Given the description of an element on the screen output the (x, y) to click on. 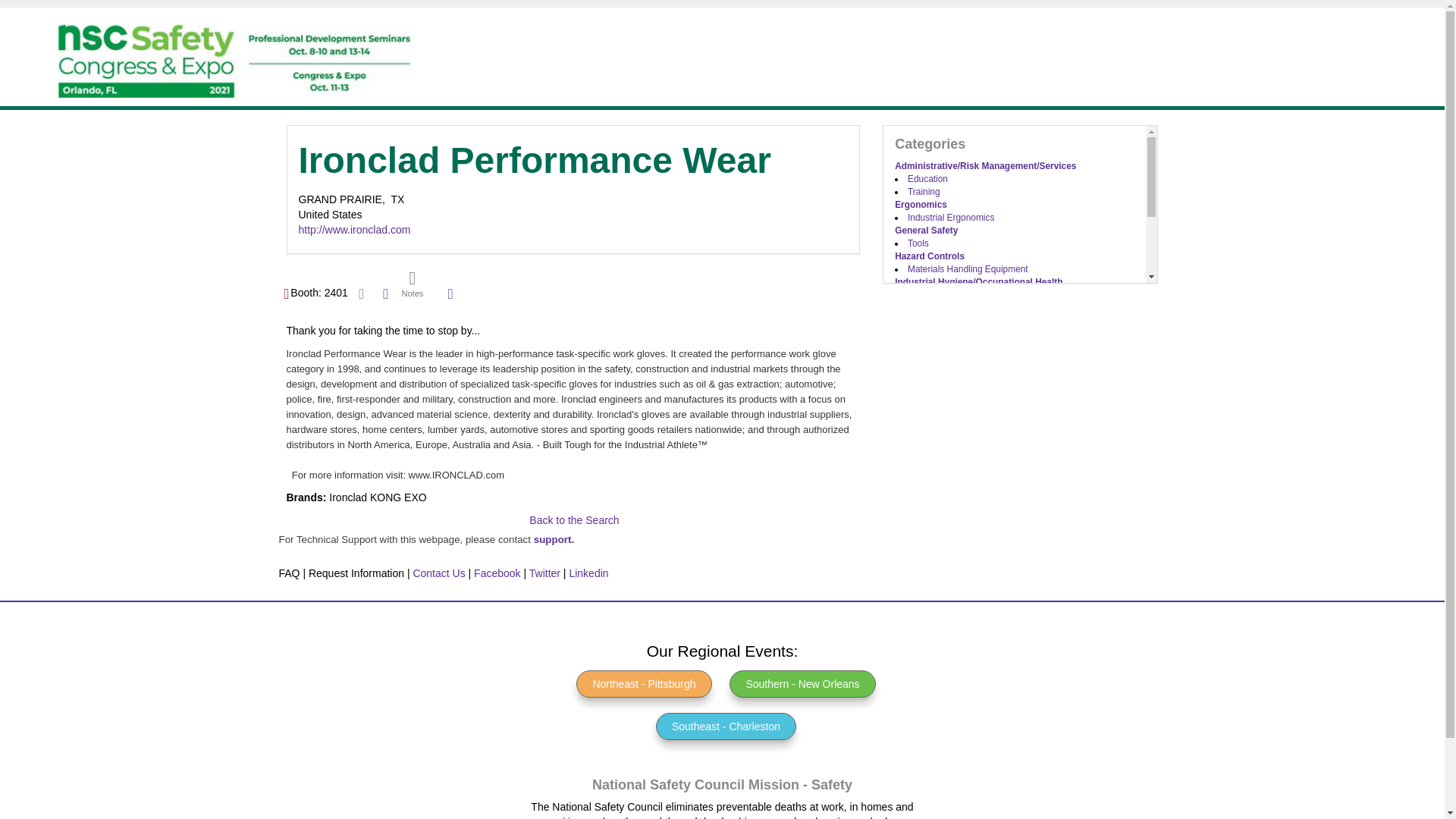
Equipment (928, 371)
Education (927, 178)
Hazard Controls (929, 255)
Print (385, 292)
Industrial Ergonomics (950, 217)
Back to the Search (573, 520)
Hazardous Waste (942, 294)
General Safety (926, 230)
General Body Protection (956, 320)
Add To My Exhibitors (450, 294)
Request Appointment (361, 292)
Hand Protection - Gloves (958, 333)
Training (923, 191)
Ergonomics (921, 204)
Personal Protection (937, 307)
